Given the description of an element on the screen output the (x, y) to click on. 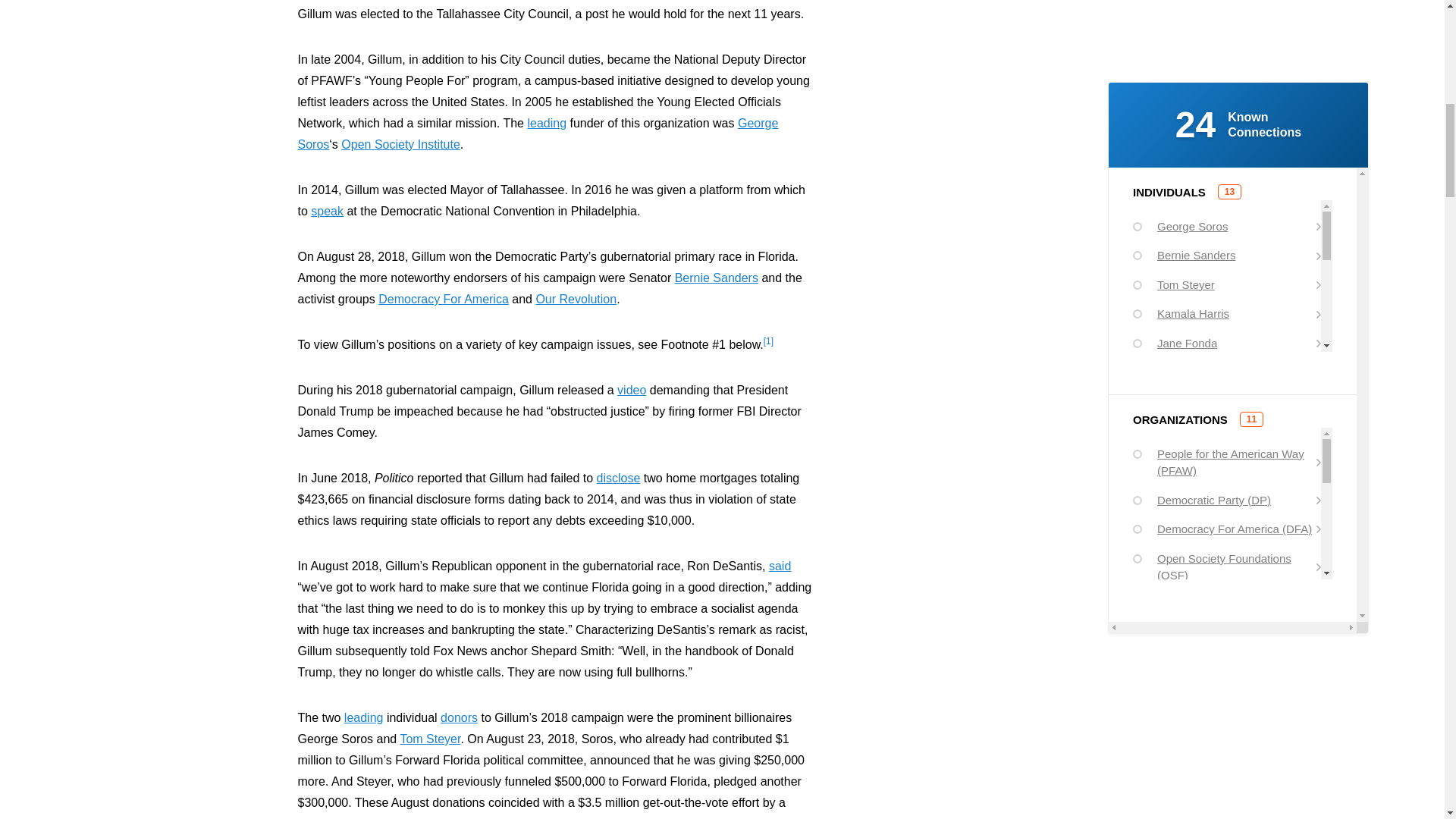
speak (327, 210)
Our Revolution (575, 298)
George Soros (537, 133)
Democracy For America (443, 298)
donors (459, 717)
leading (363, 717)
Tom Steyer (429, 738)
Bernie Sanders (716, 277)
disclose (618, 477)
Open Society Institute (400, 144)
leading (546, 123)
said (779, 565)
video (631, 390)
